Given the description of an element on the screen output the (x, y) to click on. 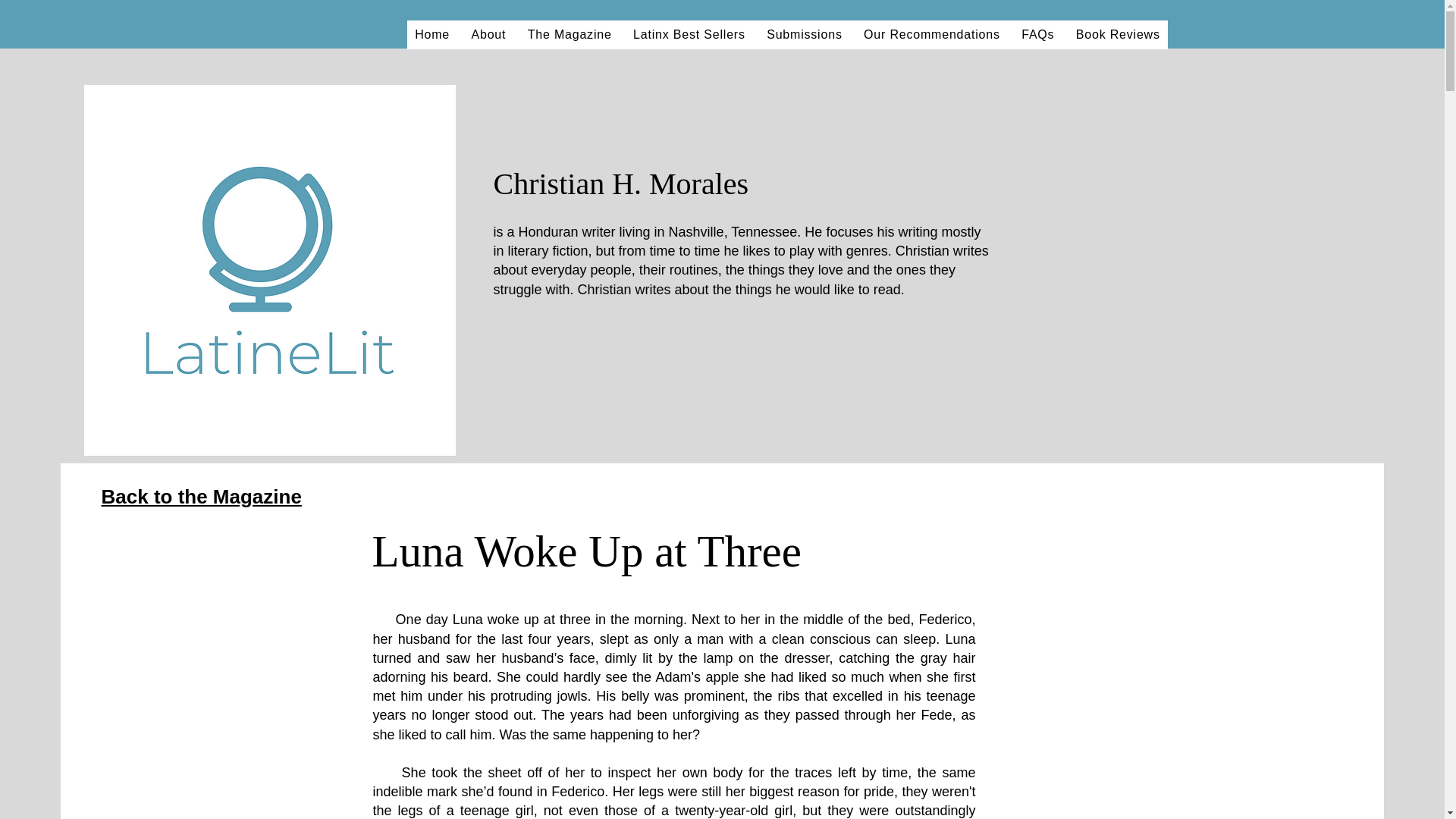
FAQs (1037, 34)
Submissions (804, 34)
The Magazine (568, 34)
Latinx Best Sellers (689, 34)
Book Reviews (1117, 34)
About (488, 34)
Home (432, 34)
Back to the Magazine (201, 496)
Our Recommendations (931, 34)
